Given the description of an element on the screen output the (x, y) to click on. 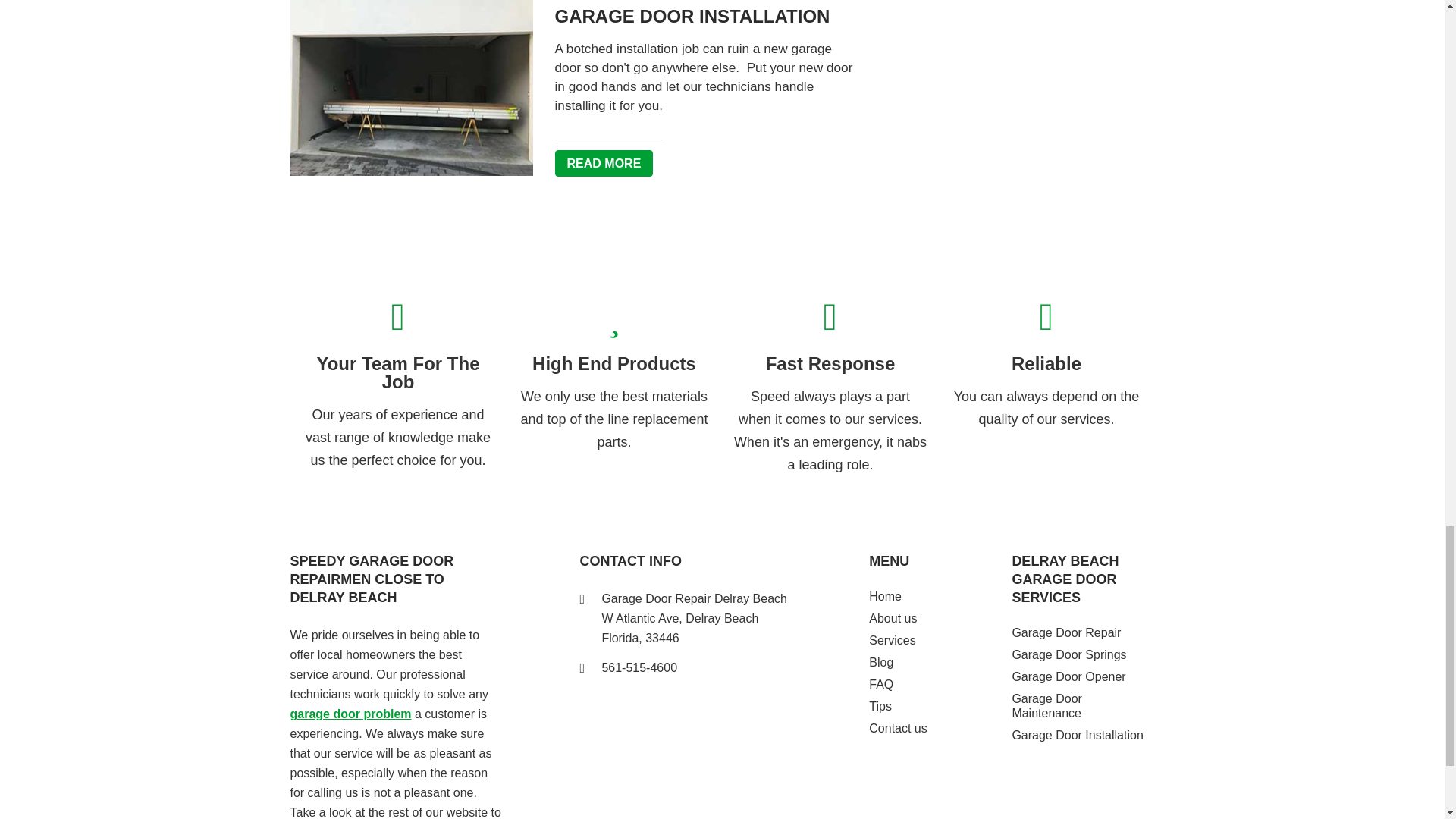
Garage door repair services (349, 713)
